Given the description of an element on the screen output the (x, y) to click on. 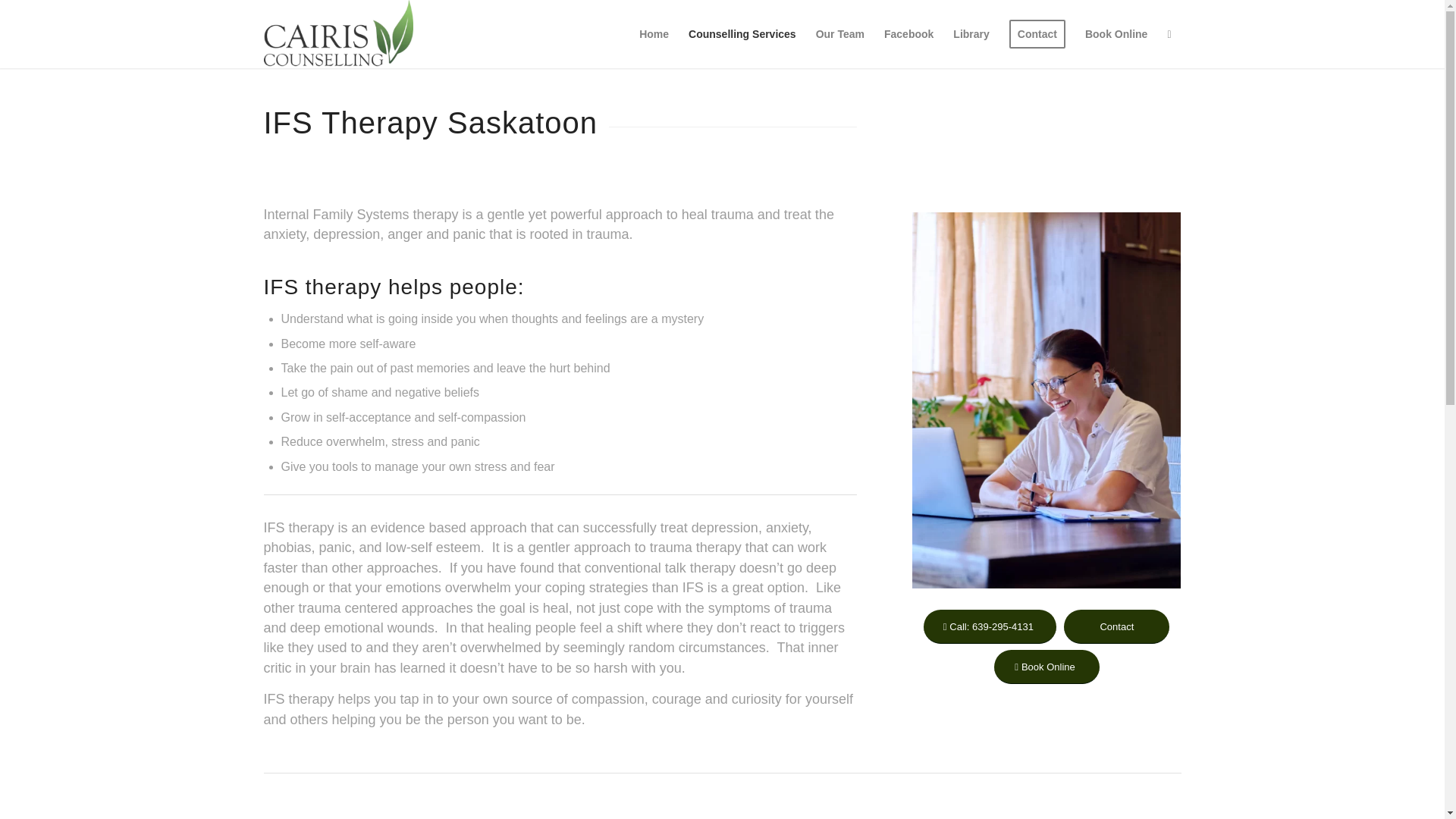
Our Team (840, 33)
Counselling Services (742, 33)
Call: 639-295-4131 (990, 626)
Facebook (909, 33)
Contact (1116, 626)
Contact (1036, 33)
Book Online (1045, 666)
Book Online (1116, 33)
